Given the description of an element on the screen output the (x, y) to click on. 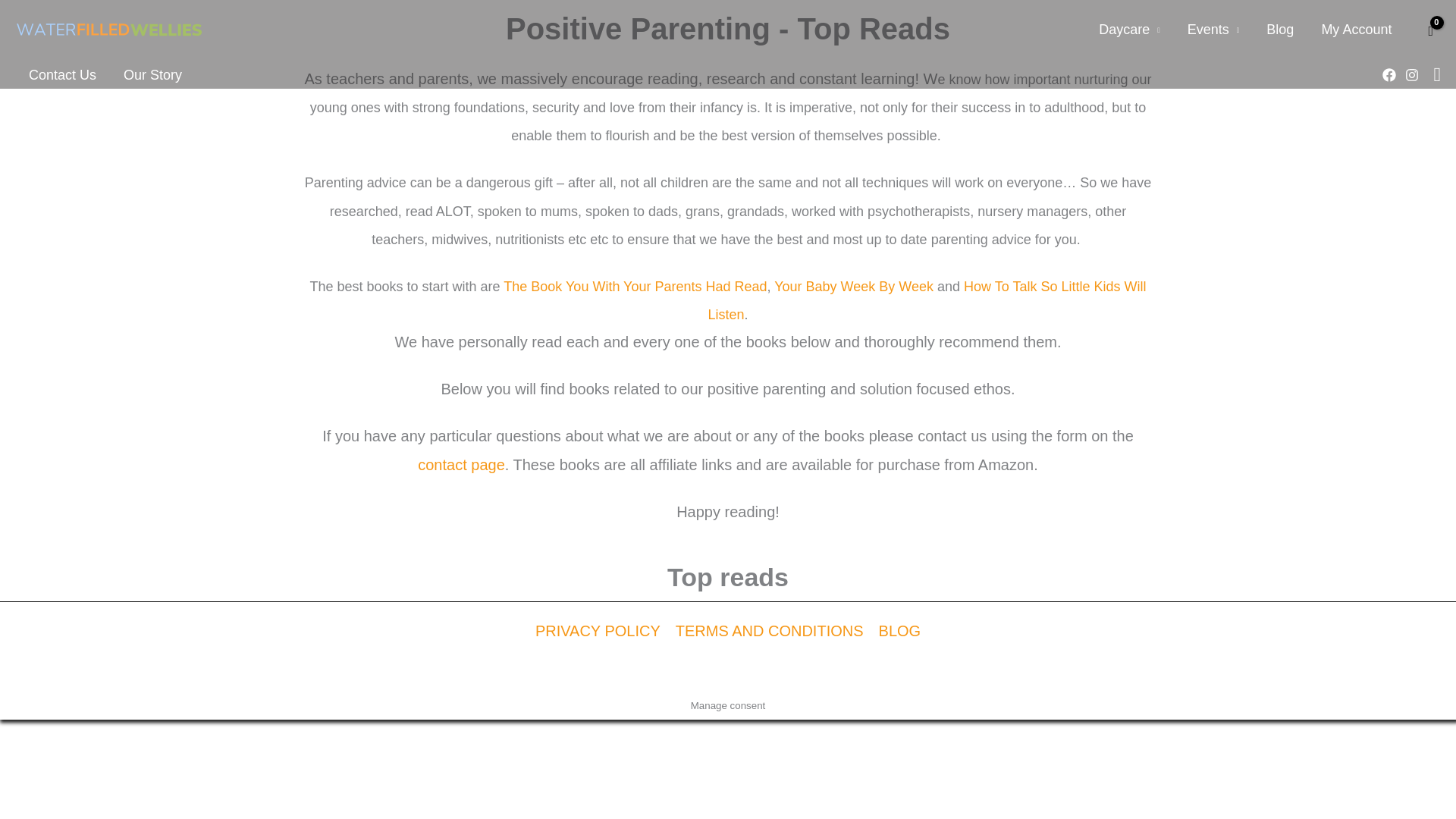
PRIVACY POLICY (601, 631)
Events (1213, 29)
My Account (1356, 29)
BLOG (895, 631)
Daycare (1128, 29)
The Book You With Your Parents Had Read (635, 286)
Blog (1279, 29)
contact page (461, 464)
Contact Us (62, 74)
TERMS AND CONDITIONS (769, 631)
Our Story (152, 74)
How To Talk So Little Kids Will Listen (926, 300)
Your Baby Week By Week (853, 286)
